Given the description of an element on the screen output the (x, y) to click on. 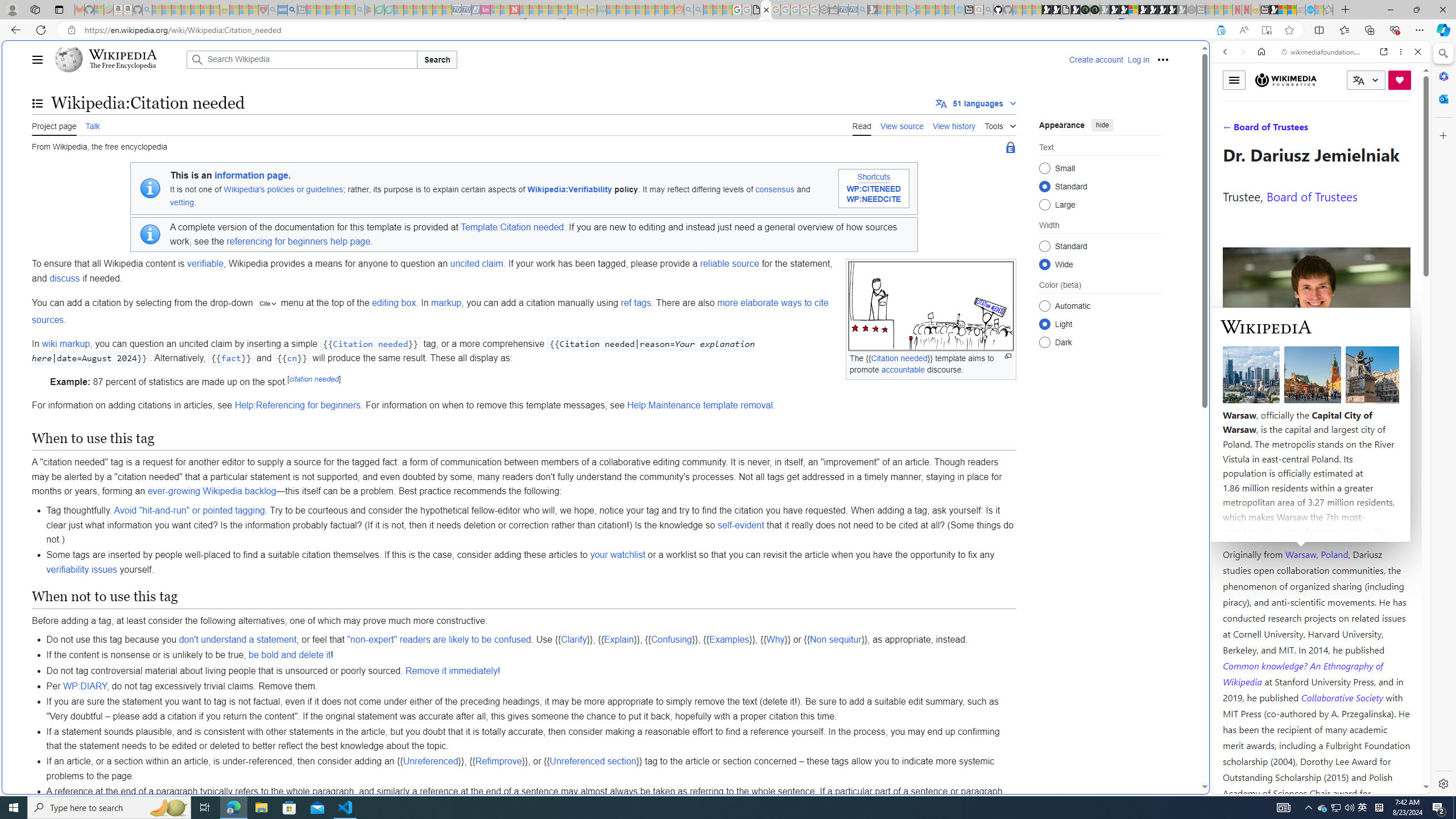
discuss (64, 277)
Confusing (670, 639)
reliable source (728, 262)
Explain (618, 639)
Extended-protected page (1010, 147)
Warsaw (1300, 554)
information page (251, 175)
